Given the description of an element on the screen output the (x, y) to click on. 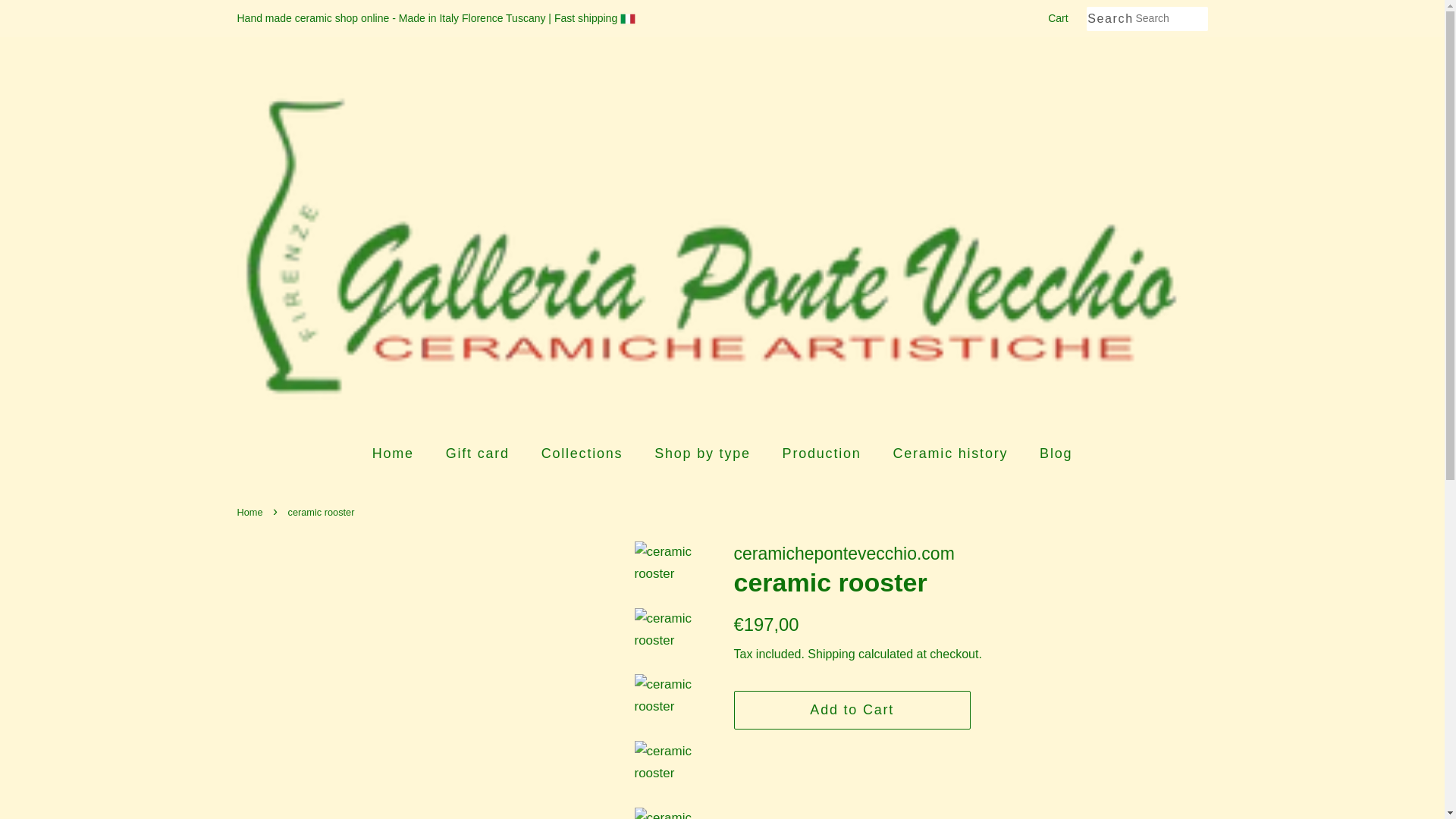
Cart (1057, 18)
Back to the frontpage (250, 511)
Search (1110, 18)
